Given the description of an element on the screen output the (x, y) to click on. 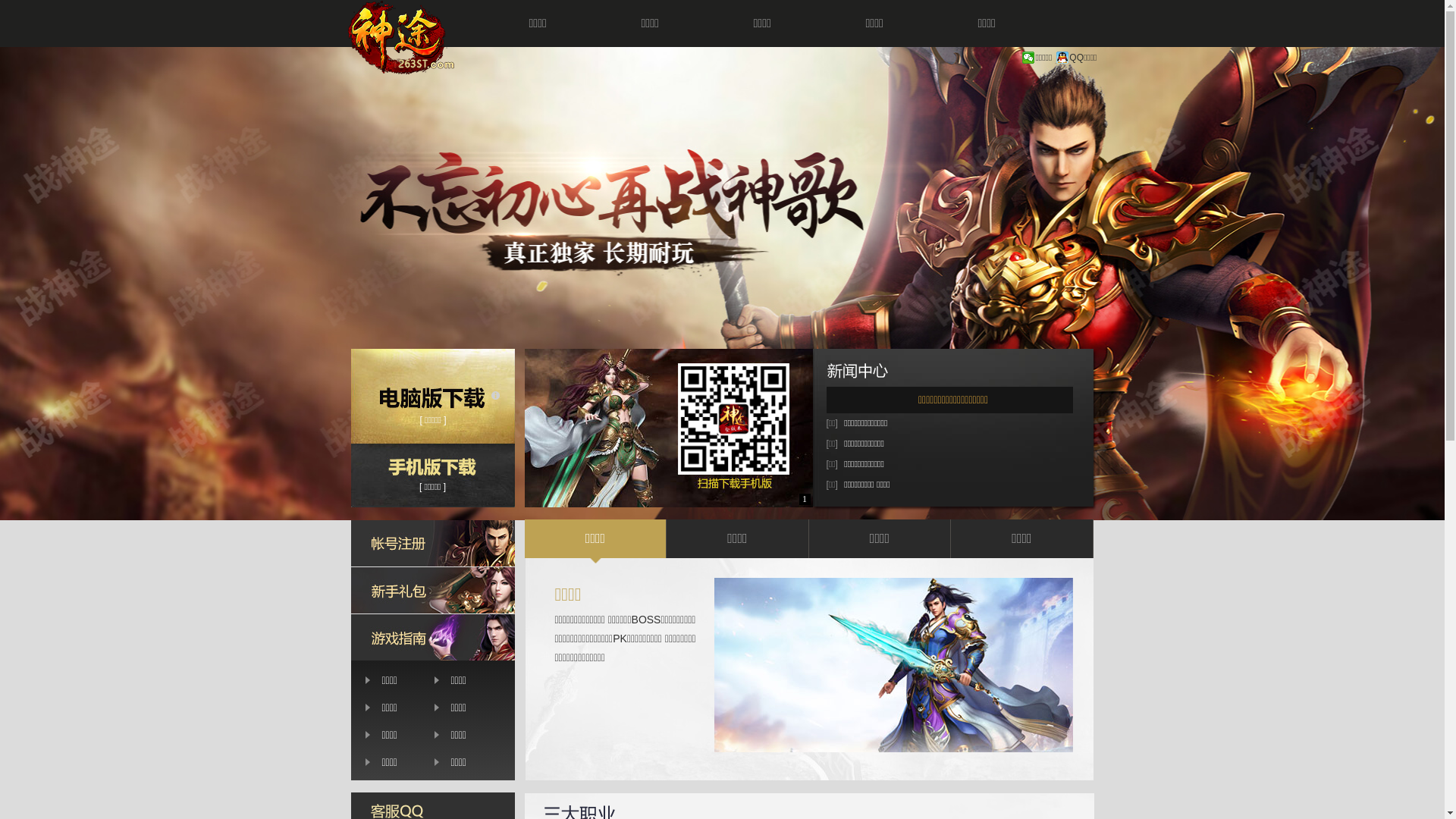
1 Element type: text (804, 499)
